Given the description of an element on the screen output the (x, y) to click on. 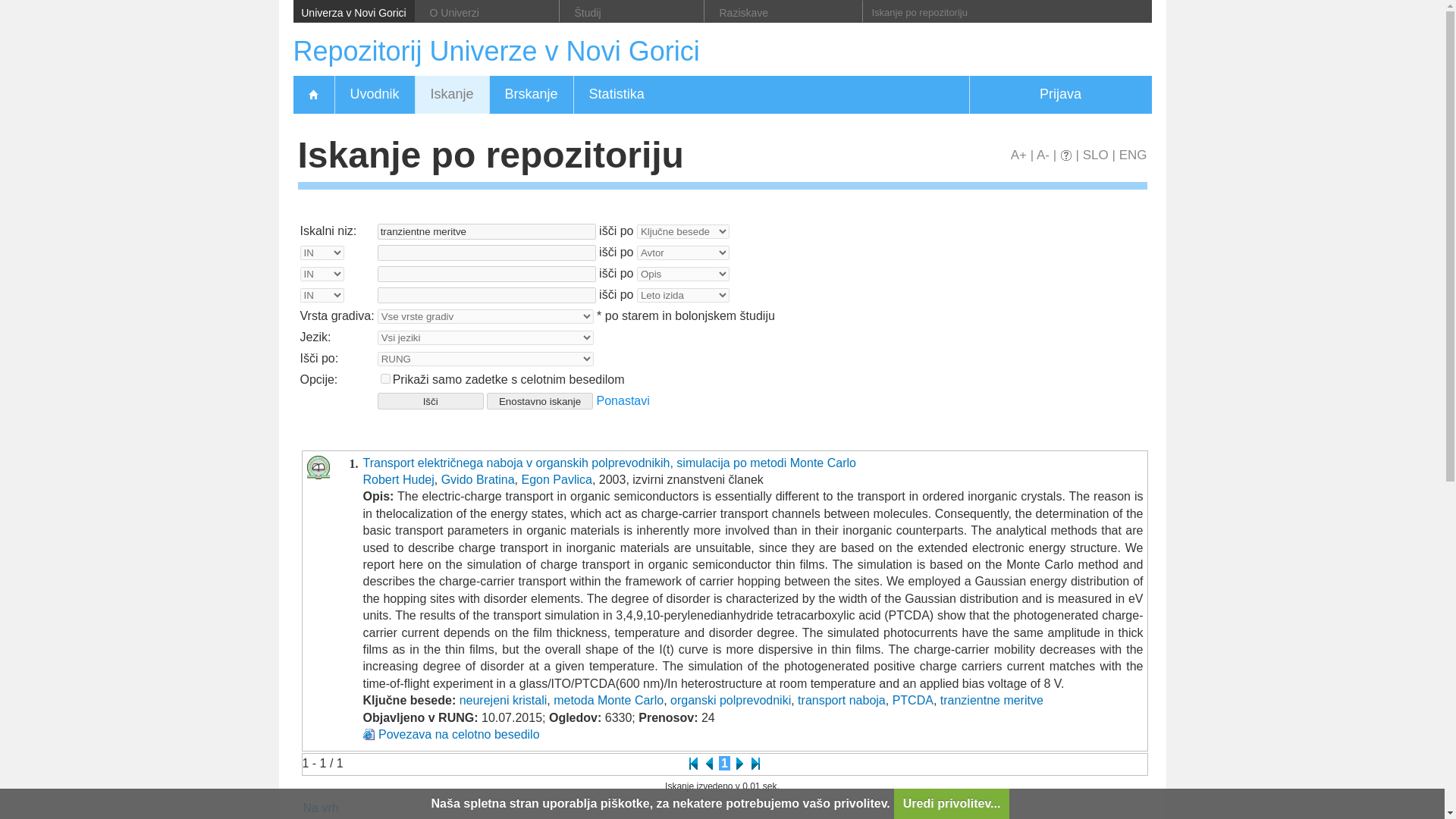
organski polprevodniki (729, 699)
Ponastavi (622, 400)
Robert Hudej (397, 479)
tranzientne meritve (486, 231)
Univerza v Novi Gorici (352, 11)
Statistika (616, 94)
Iskanje po repozitoriju (985, 11)
Uredi privolitev... (951, 803)
Uvodnik (373, 94)
Na vrh (320, 807)
